Given the description of an element on the screen output the (x, y) to click on. 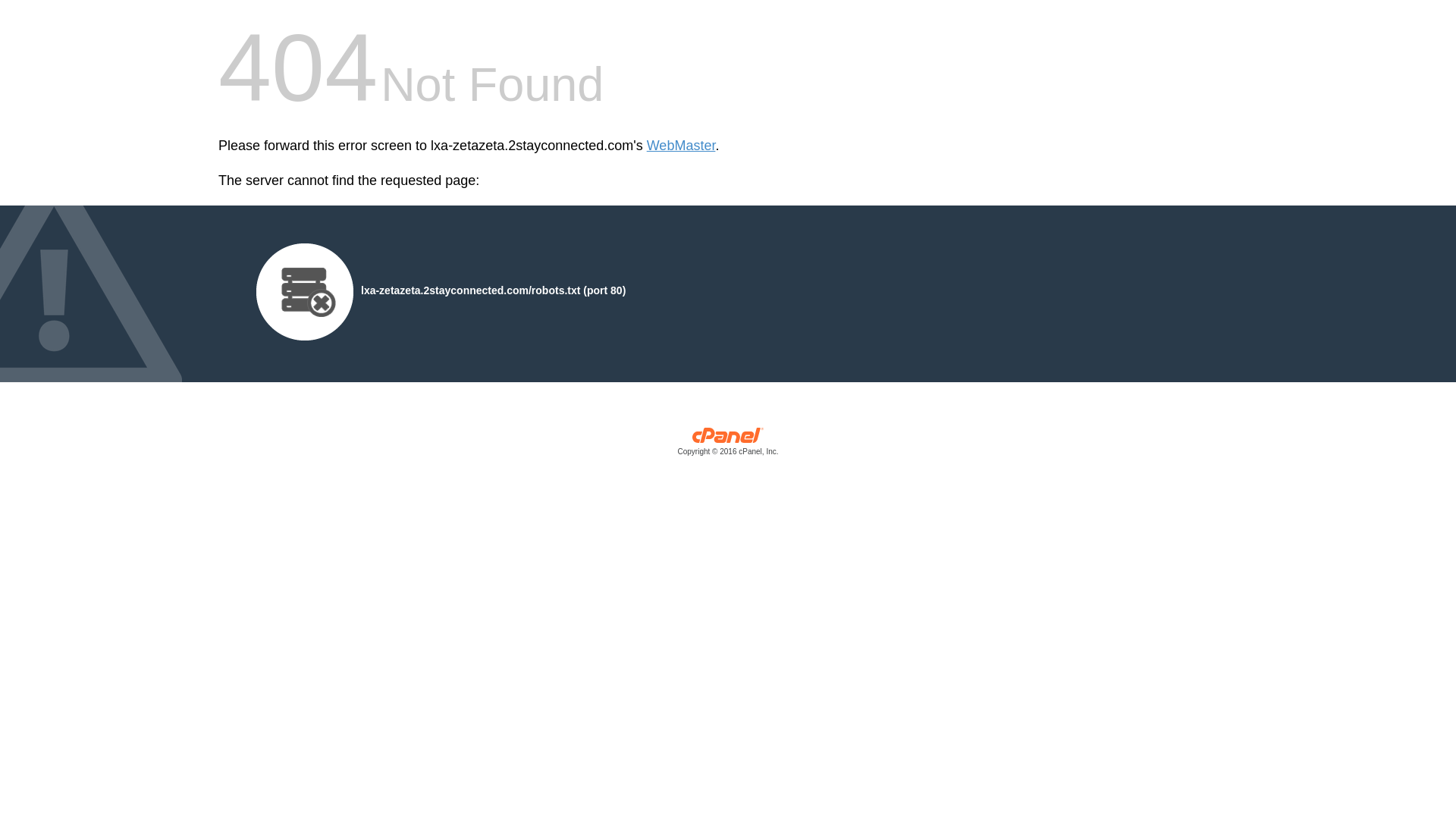
WebMaster Element type: text (680, 145)
